Given the description of an element on the screen output the (x, y) to click on. 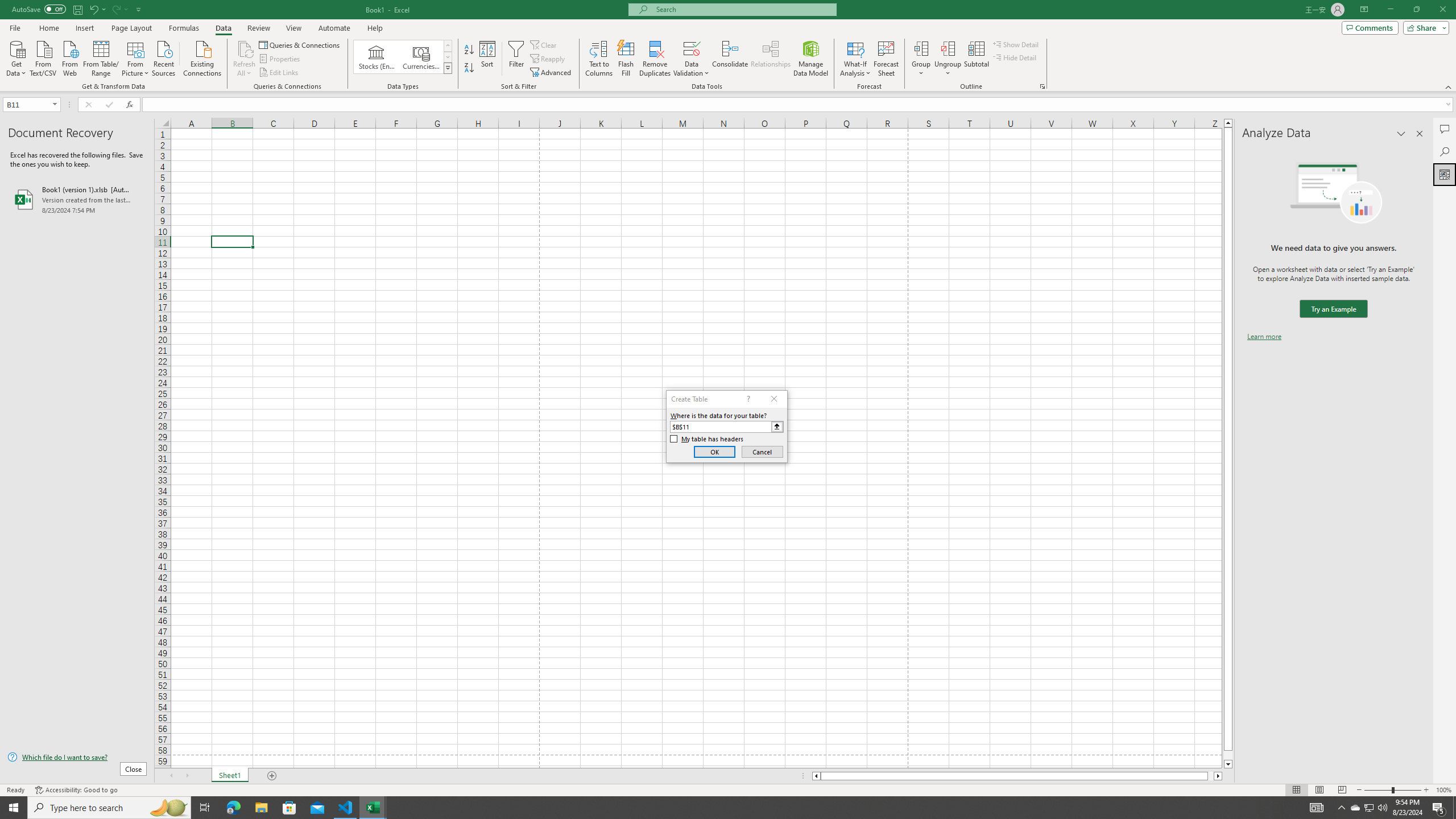
Line up (1228, 122)
Ungroup... (947, 48)
Task Pane Options (1400, 133)
